Given the description of an element on the screen output the (x, y) to click on. 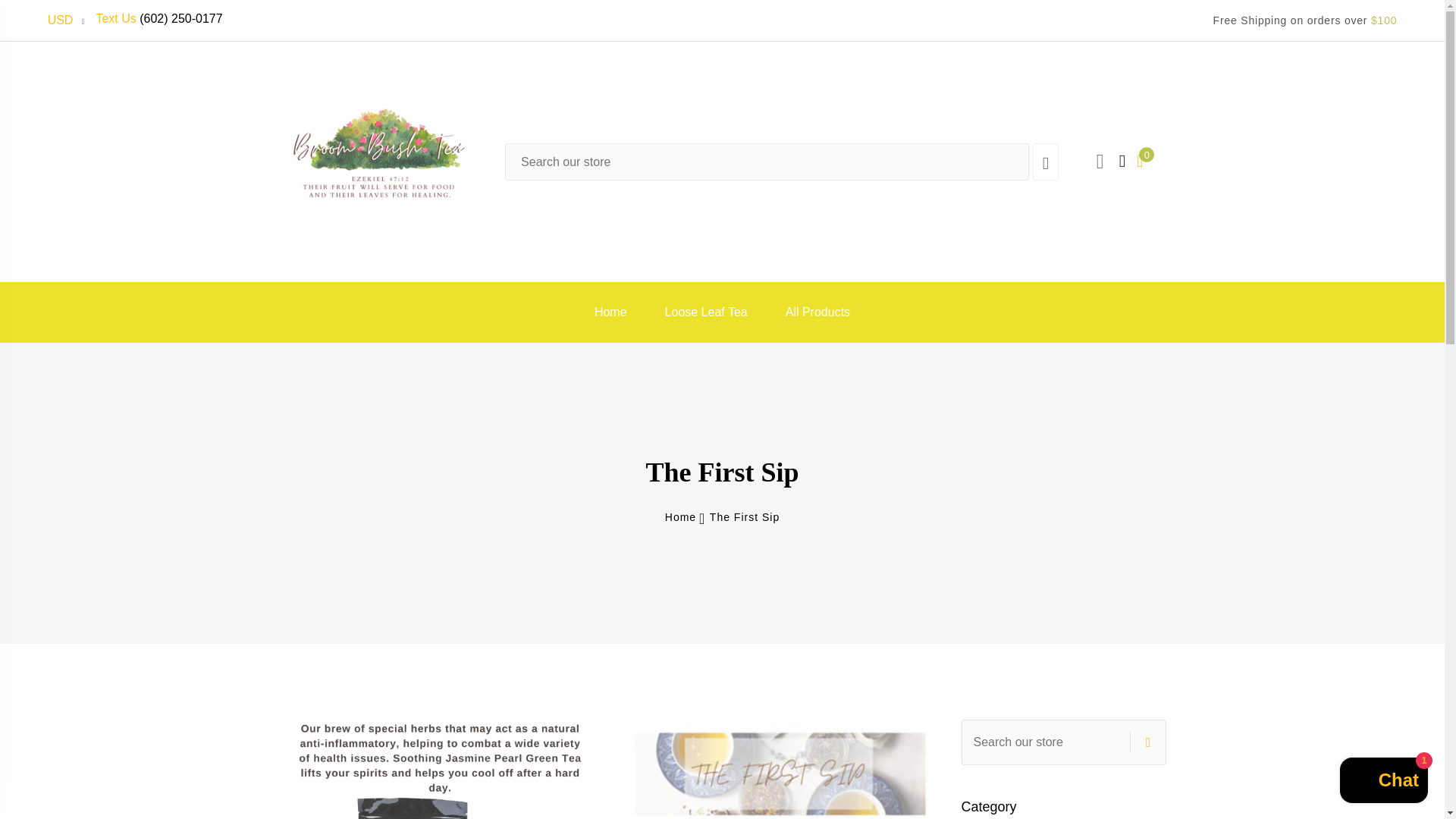
All Products (818, 312)
Home (610, 312)
Shopify online store chat (1383, 781)
0 (1139, 159)
Back to the home page (680, 517)
Loose Leaf Tea (706, 312)
